Given the description of an element on the screen output the (x, y) to click on. 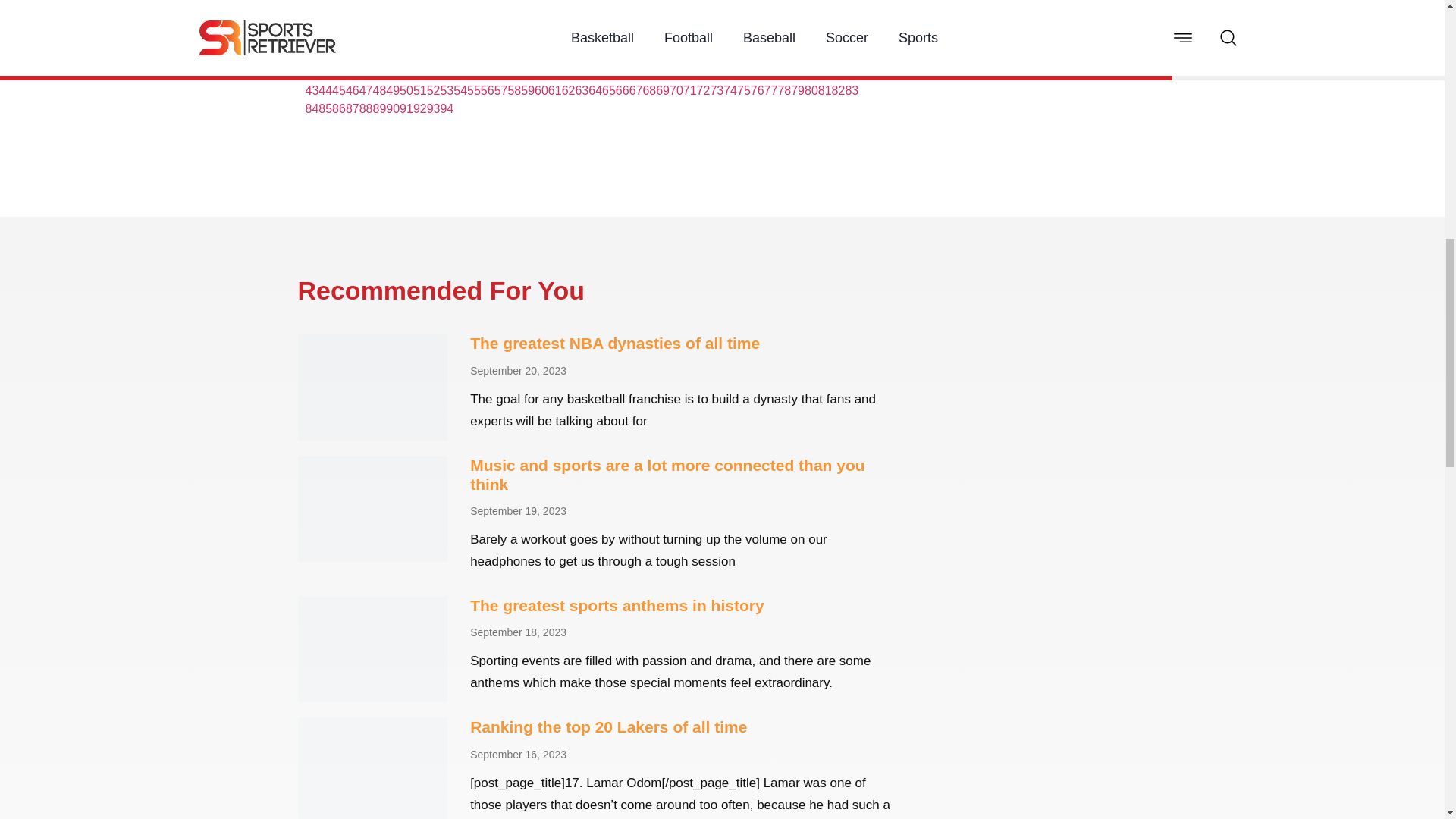
11 (426, 72)
12 (440, 72)
10 (413, 72)
